Given the description of an element on the screen output the (x, y) to click on. 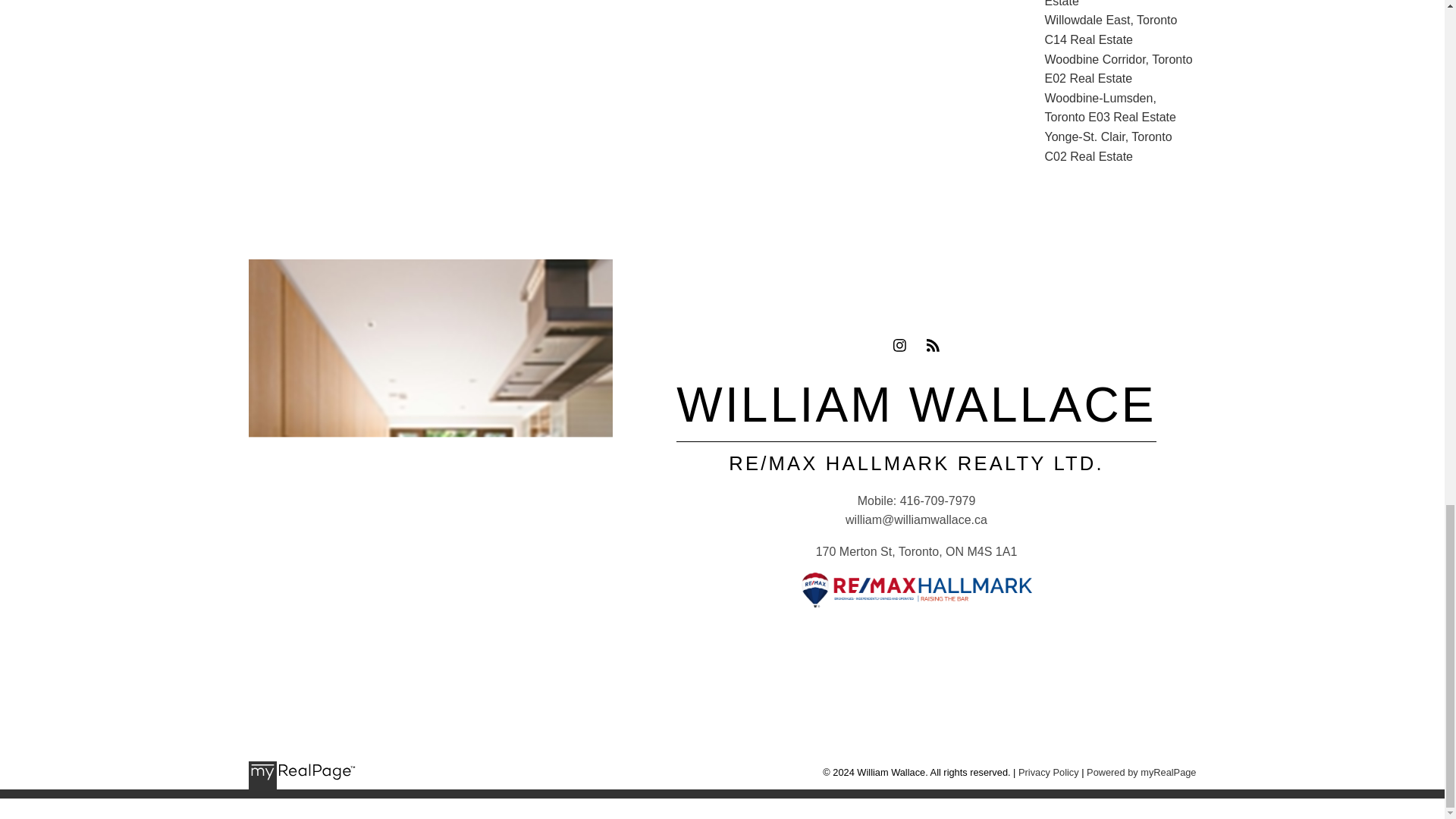
Instagram (899, 345)
Blog (932, 345)
